Given the description of an element on the screen output the (x, y) to click on. 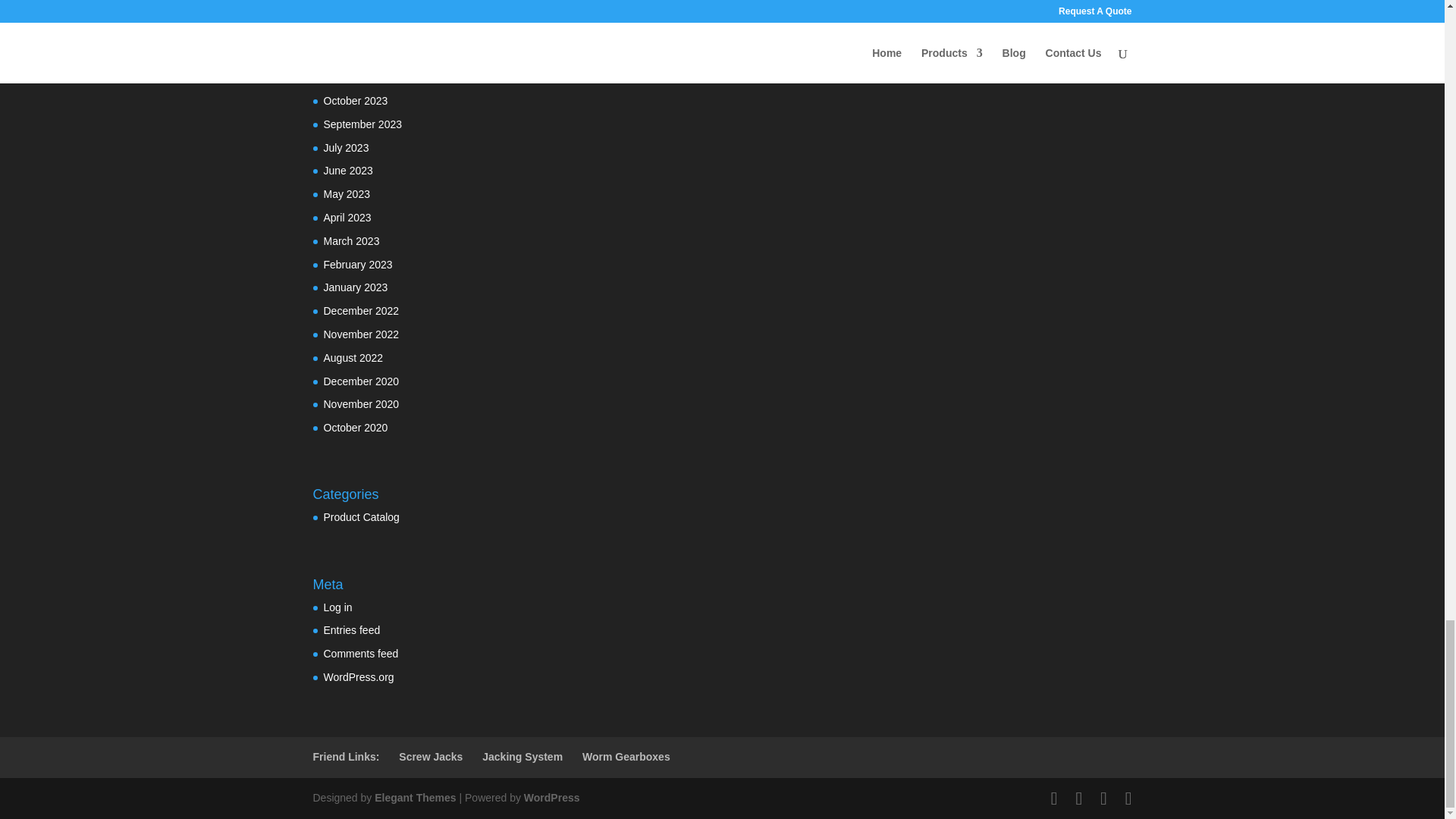
Premium WordPress Themes (414, 797)
